Given the description of an element on the screen output the (x, y) to click on. 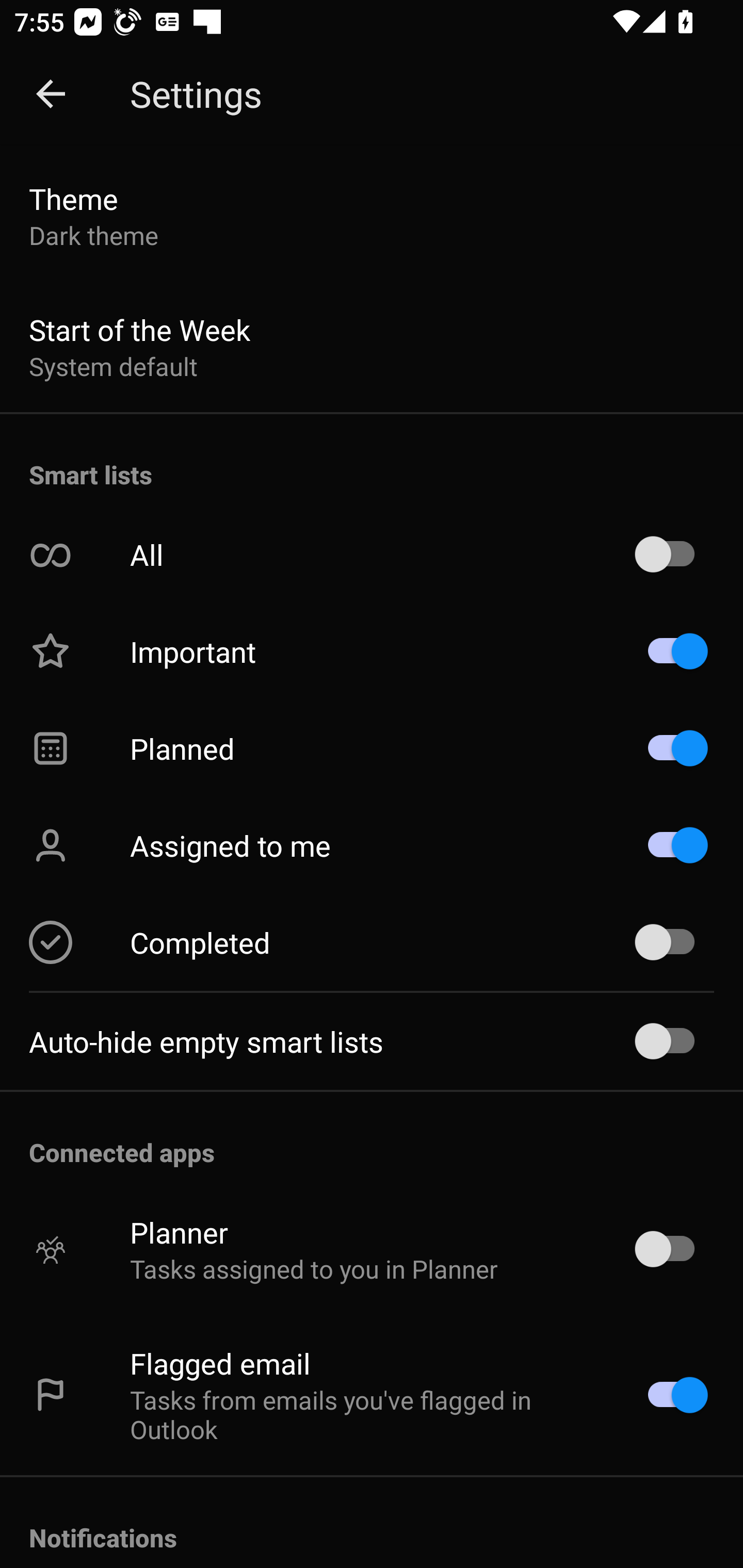
Navigate up (50, 93)
Theme Dark theme (371, 215)
Start of the Week System default (371, 346)
All (371, 554)
Important (371, 651)
Planned (371, 747)
Assigned to me (371, 844)
Completed (371, 941)
Auto-hide empty smart lists (371, 1040)
Planner Tasks assigned to you in Planner (371, 1248)
